Given the description of an element on the screen output the (x, y) to click on. 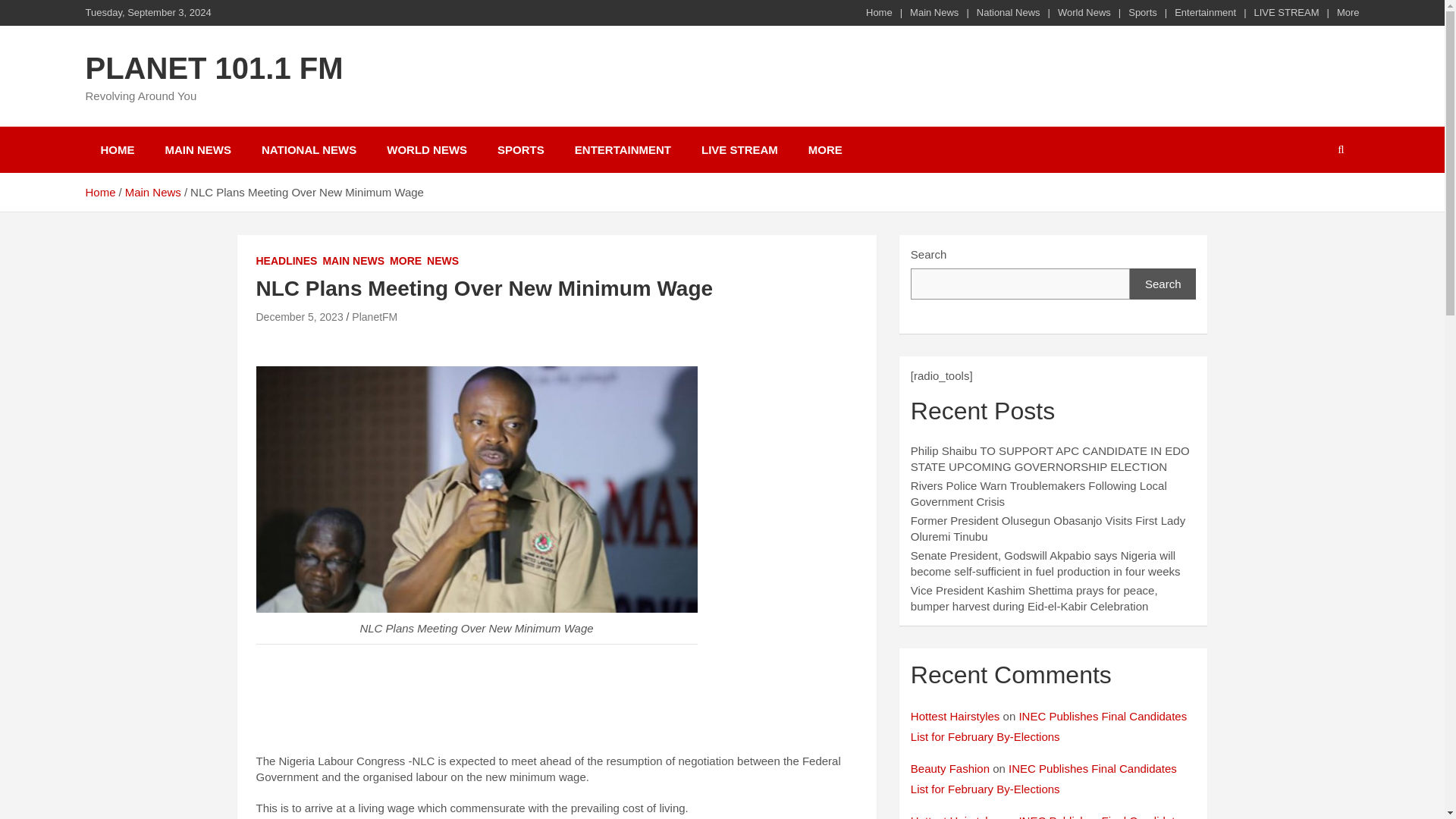
NATIONAL NEWS (308, 149)
MORE (406, 261)
MAIN NEWS (352, 261)
Main News (152, 192)
HEADLINES (286, 261)
WORLD NEWS (426, 149)
December 5, 2023 (299, 316)
NLC Plans Meeting Over New Minimum Wage (299, 316)
Search (1162, 283)
MAIN NEWS (198, 149)
